Given the description of an element on the screen output the (x, y) to click on. 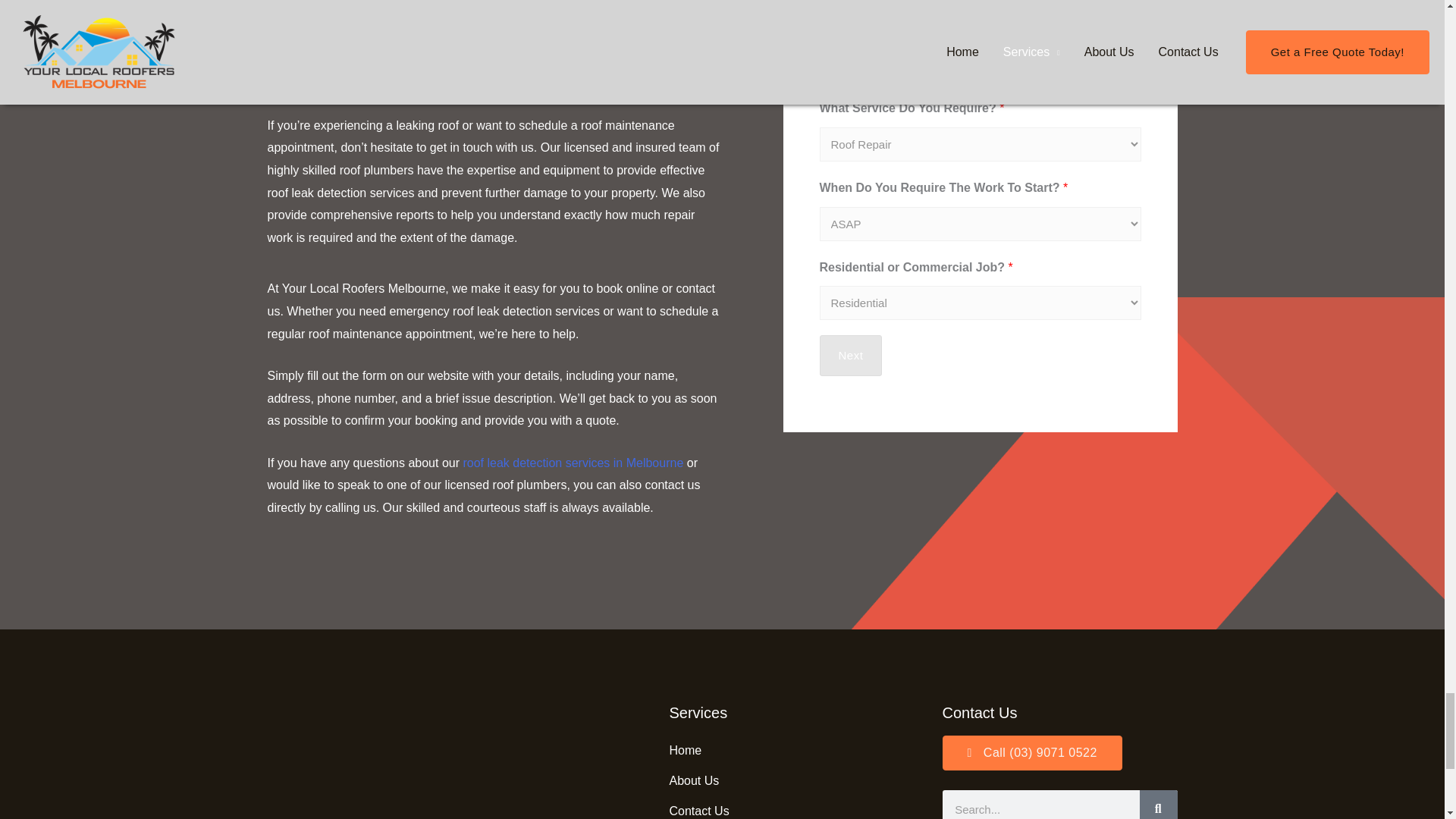
Melbourne, Victoria (448, 762)
